Given the description of an element on the screen output the (x, y) to click on. 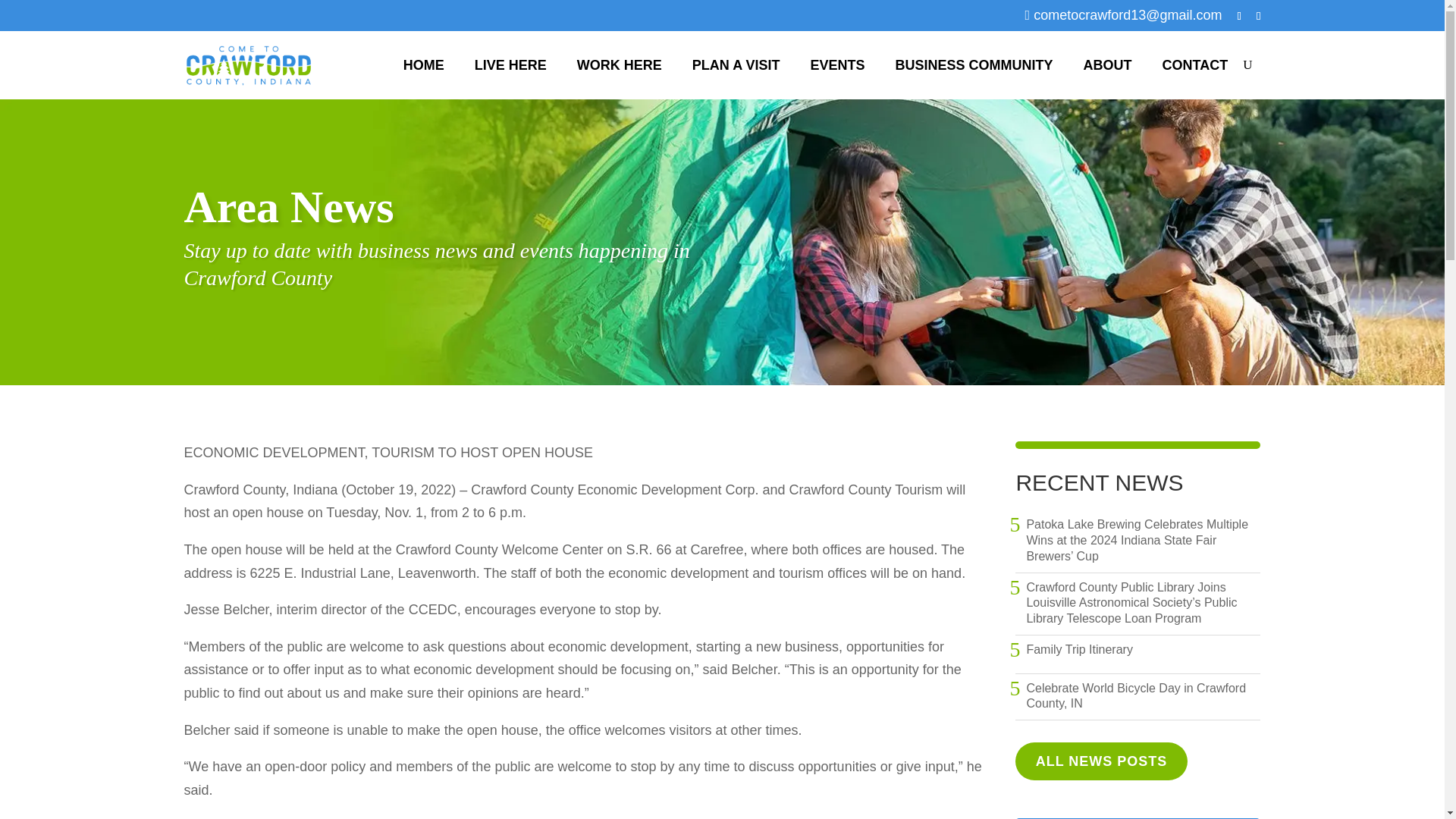
WORK HERE (619, 64)
LIVE HERE (511, 64)
Celebrate World Bicycle Day in Crawford County, IN (1143, 696)
ALL NEWS POSTS (1100, 761)
BUSINESS COMMUNITY (974, 64)
CONTACT (1195, 64)
PLAN A VISIT (735, 64)
EVENTS (837, 64)
ABOUT (1107, 64)
Family Trip Itinerary (1079, 650)
